Given the description of an element on the screen output the (x, y) to click on. 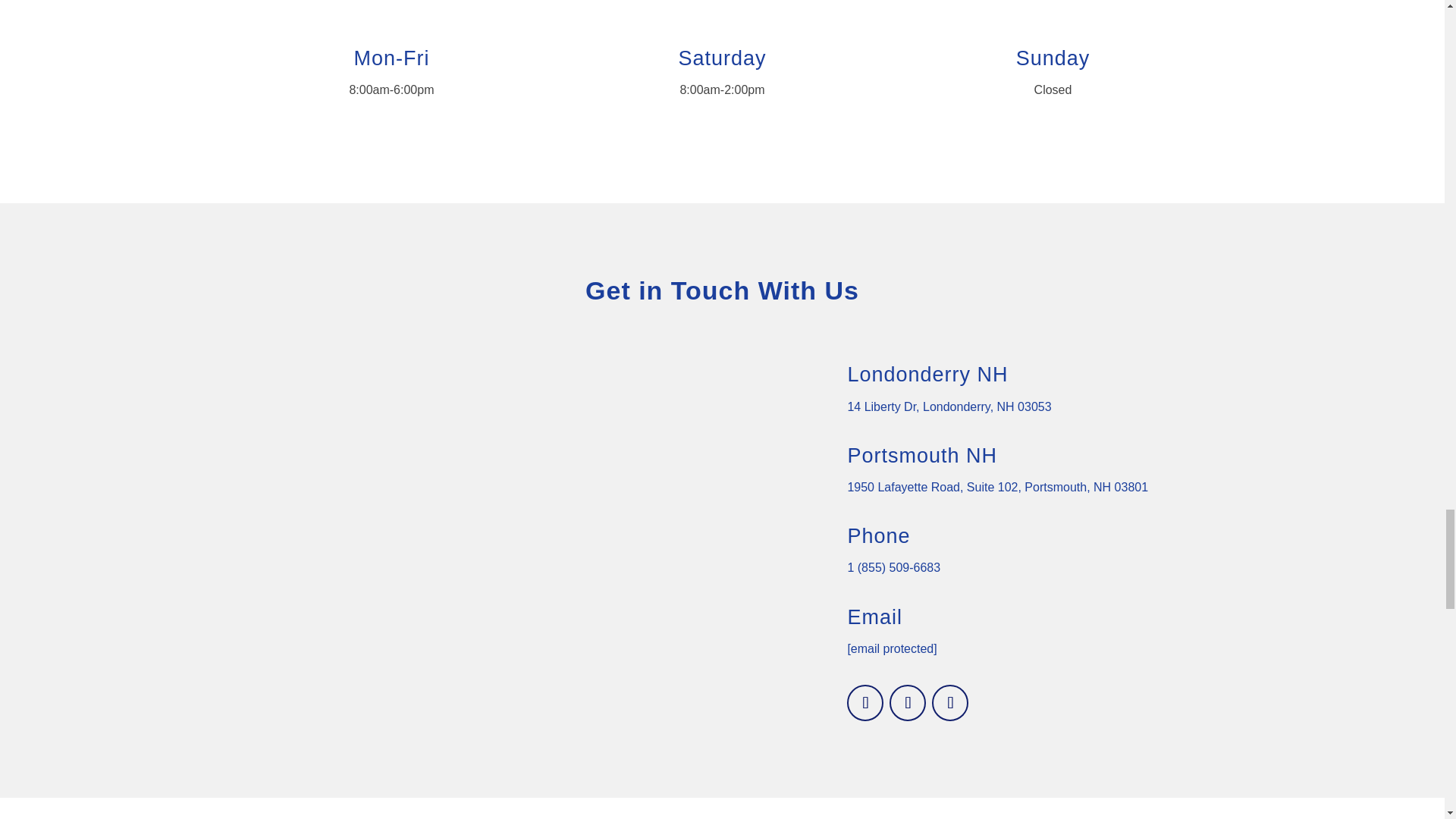
Follow on Instagram (949, 702)
Follow on LinkedIn (907, 702)
Follow on Facebook (865, 702)
